Given the description of an element on the screen output the (x, y) to click on. 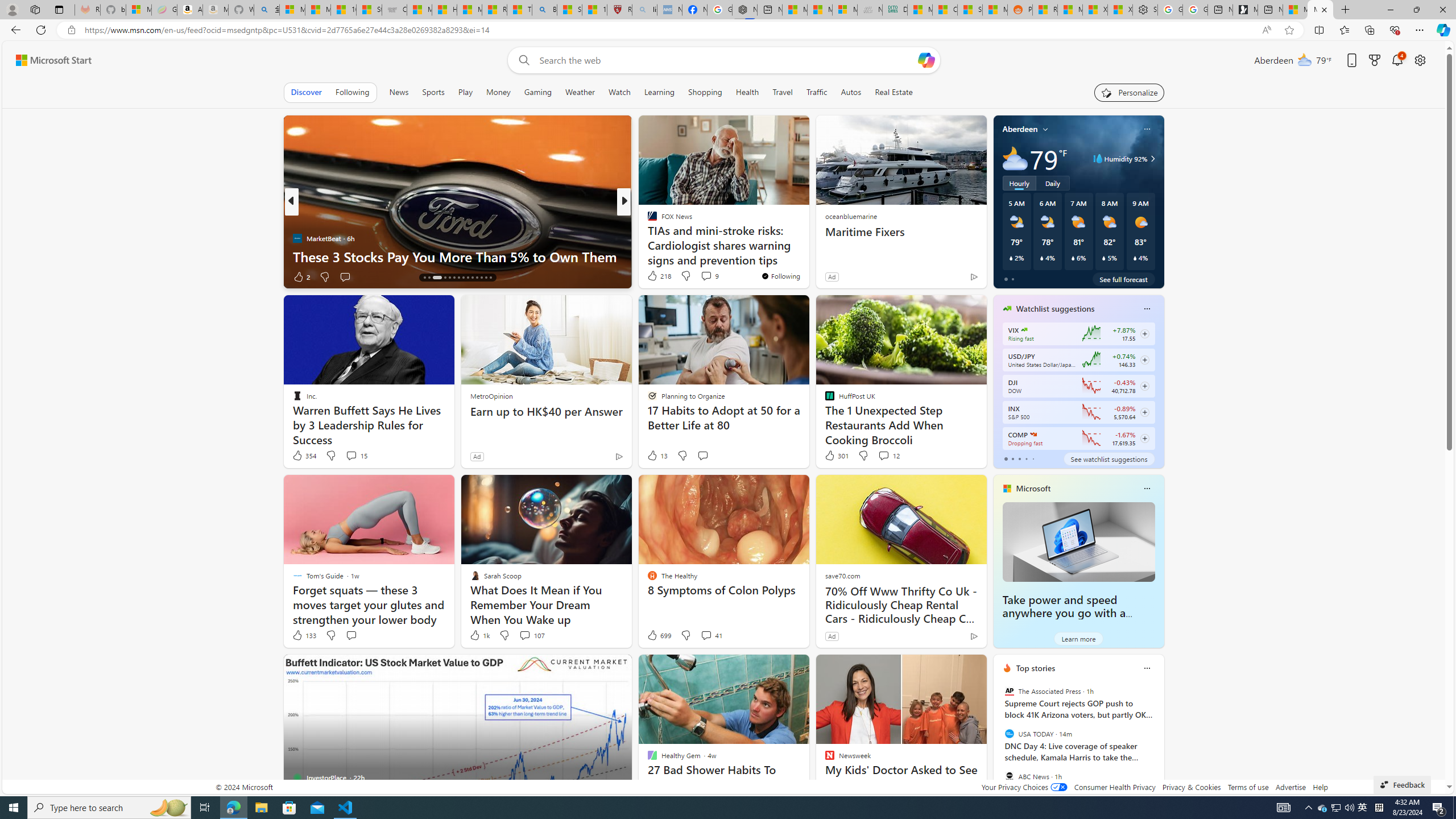
Autos (851, 92)
Hide this story (952, 668)
View comments 1 Comment (694, 276)
USA TODAY (1008, 733)
Real Estate (893, 92)
View comments 23 Comment (707, 276)
See full forecast (1123, 278)
See watchlist suggestions (1108, 459)
Gaming (537, 92)
Travel (782, 92)
